Given the description of an element on the screen output the (x, y) to click on. 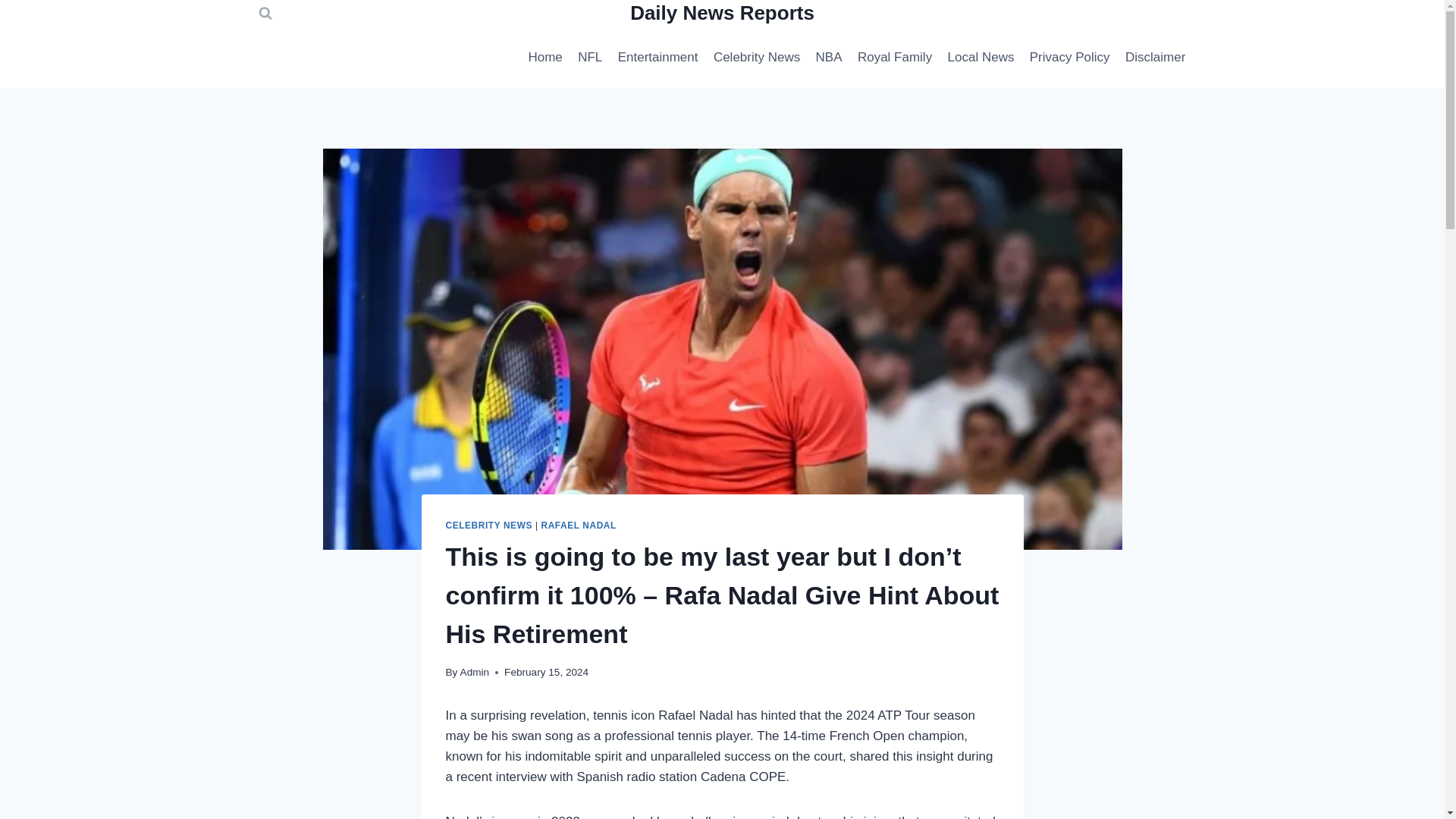
NBA (828, 57)
Privacy Policy (1070, 57)
Disclaimer (1155, 57)
RAFAEL NADAL (577, 525)
Celebrity News (757, 57)
Entertainment (657, 57)
Daily News Reports (721, 13)
Home (544, 57)
Local News (980, 57)
Royal Family (895, 57)
